Given the description of an element on the screen output the (x, y) to click on. 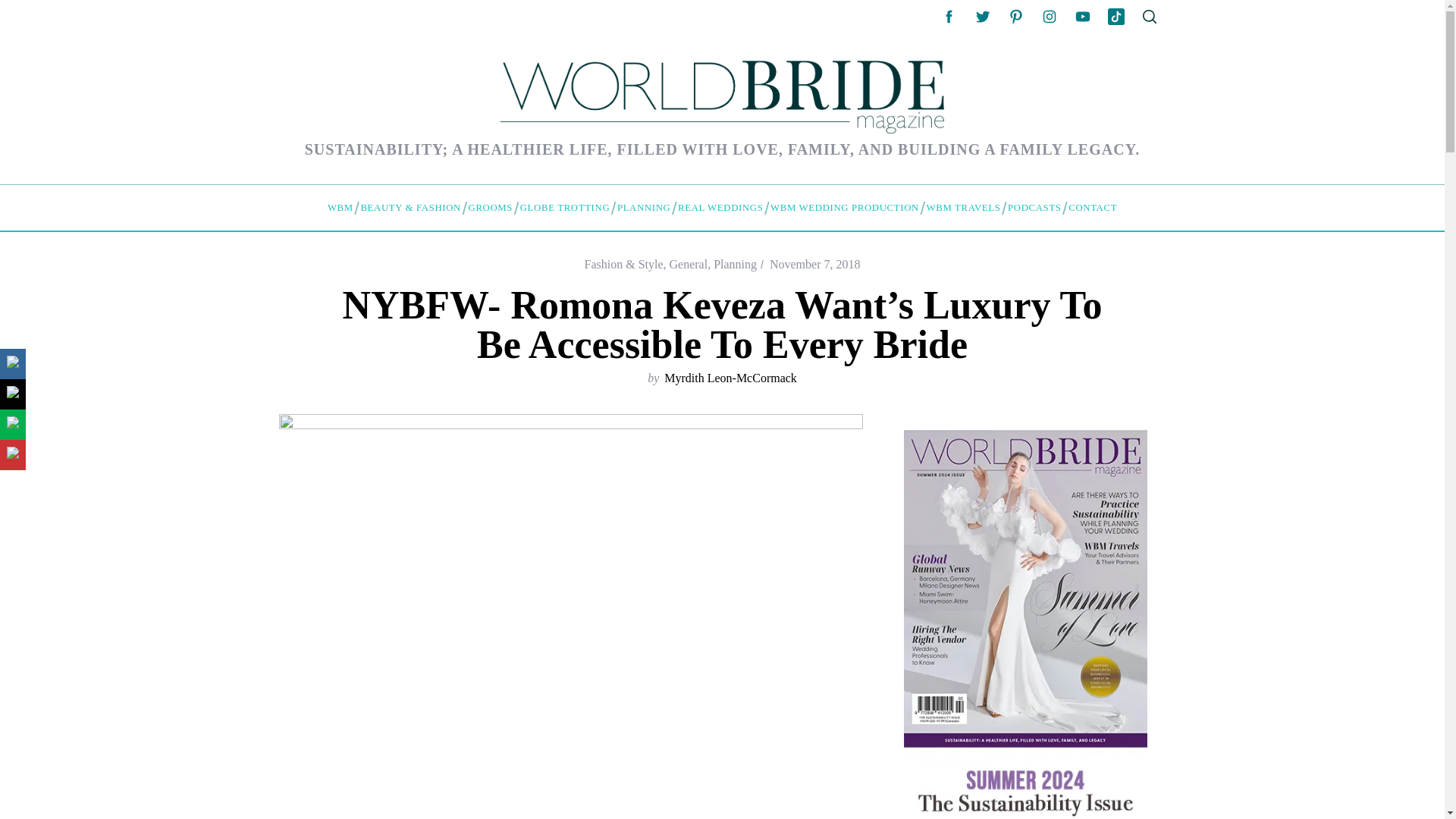
PLANNING (643, 207)
GROOMS (490, 207)
GLOBE TROTTING (564, 207)
